Given the description of an element on the screen output the (x, y) to click on. 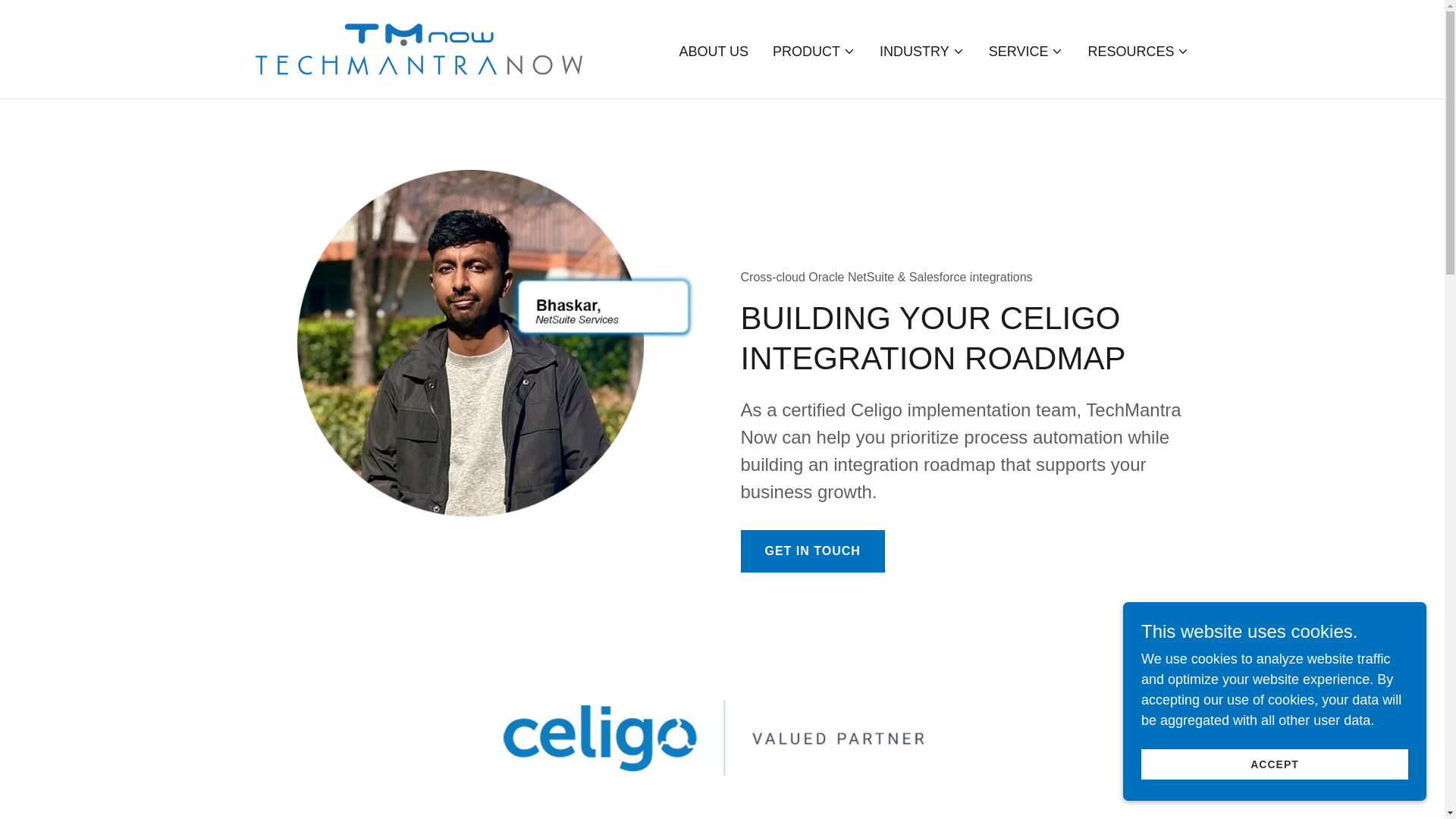
PRODUCT (814, 51)
TMN TECHMANTRA NOW (417, 48)
RESOURCES (1138, 51)
INDUSTRY (921, 51)
SERVICE (1026, 51)
ABOUT US (713, 51)
